Given the description of an element on the screen output the (x, y) to click on. 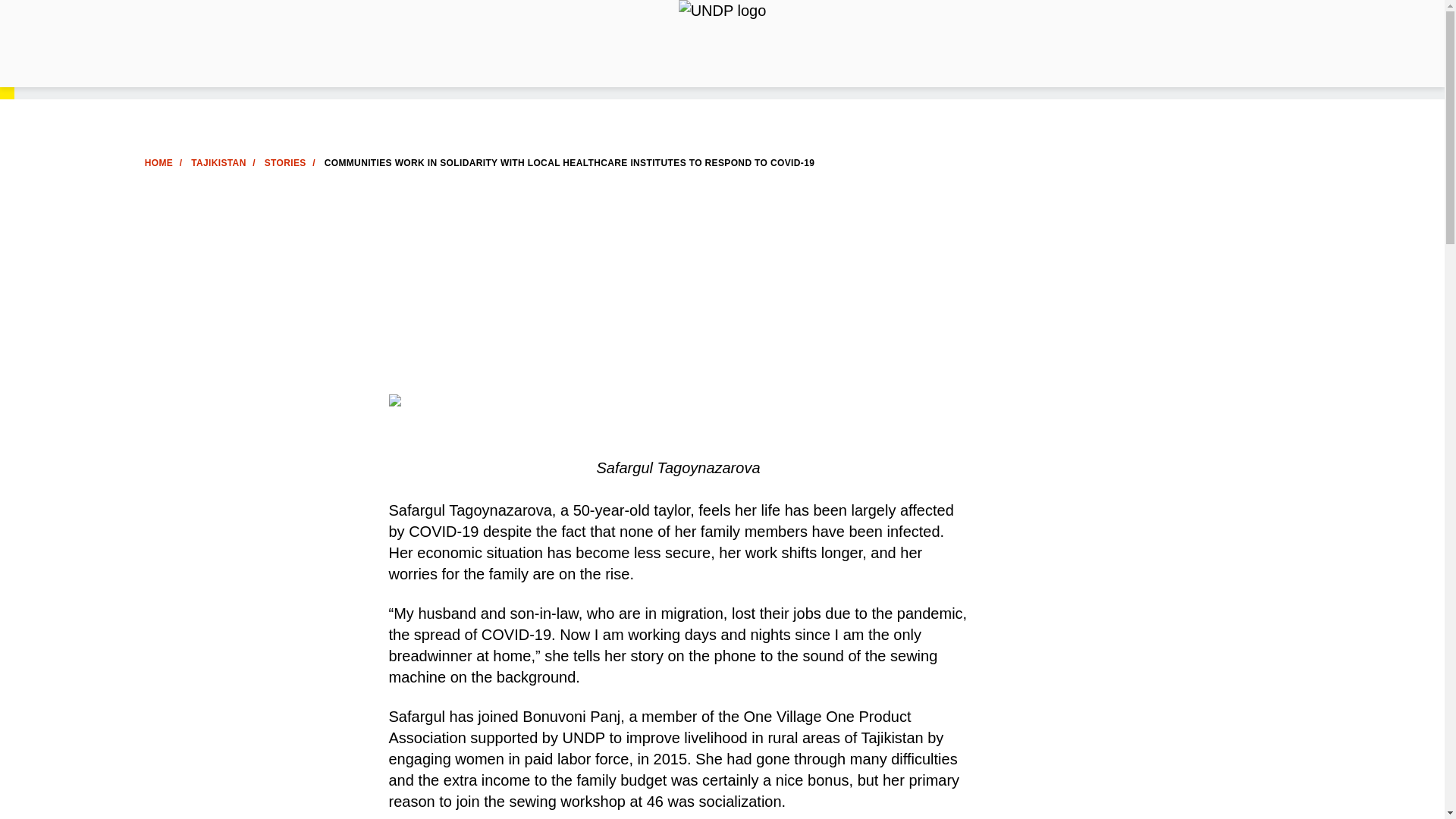
TAJIKISTAN (218, 163)
STORIES (284, 163)
HOME (158, 163)
